Given the description of an element on the screen output the (x, y) to click on. 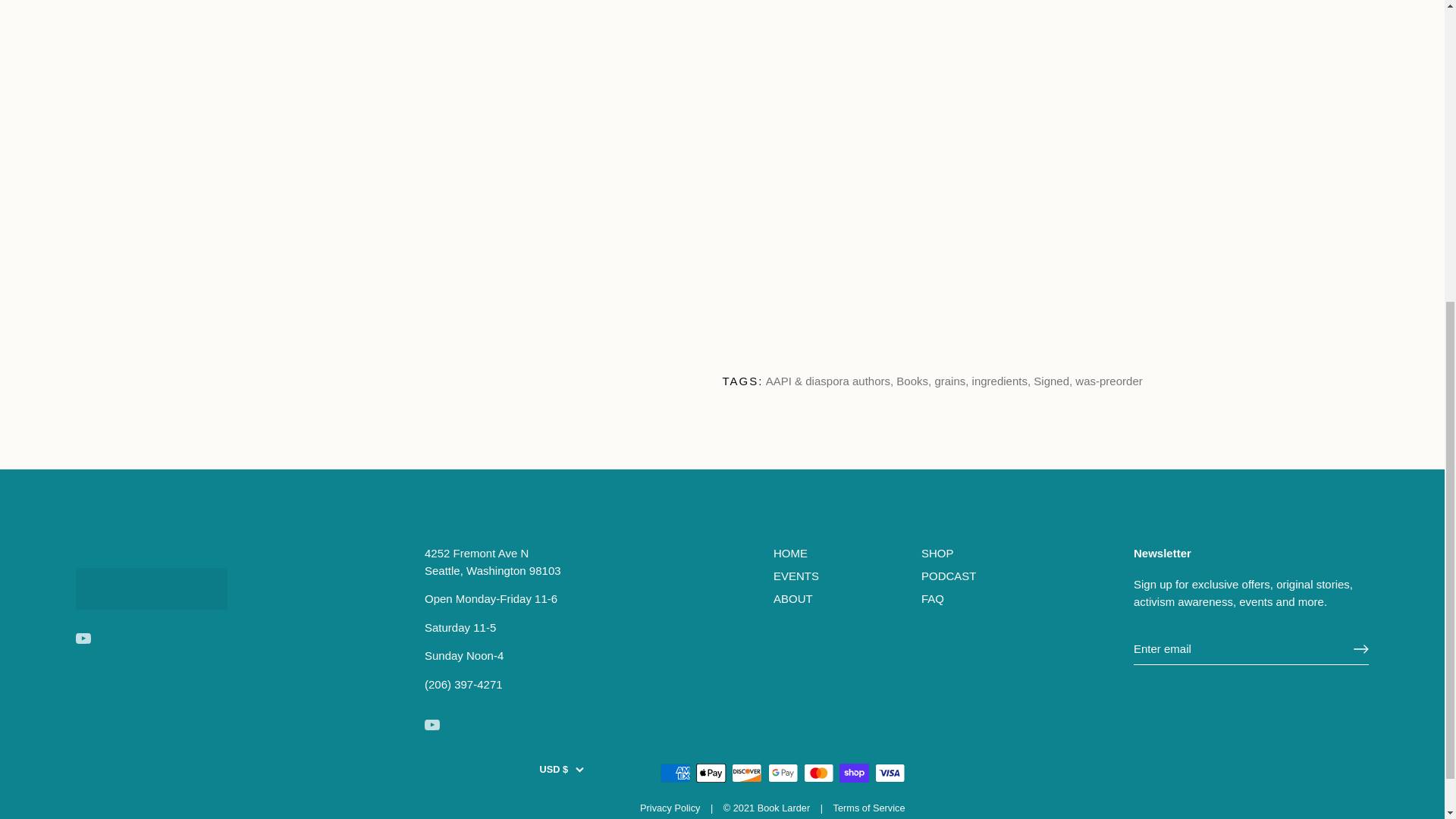
RIGHT ARROW LONG (1361, 648)
Apple Pay (710, 772)
Shop Pay (854, 772)
Google Pay (782, 772)
Visa (890, 772)
Mastercard (818, 772)
Discover (746, 772)
Youtube (432, 724)
American Express (675, 772)
Youtube (82, 638)
